Given the description of an element on the screen output the (x, y) to click on. 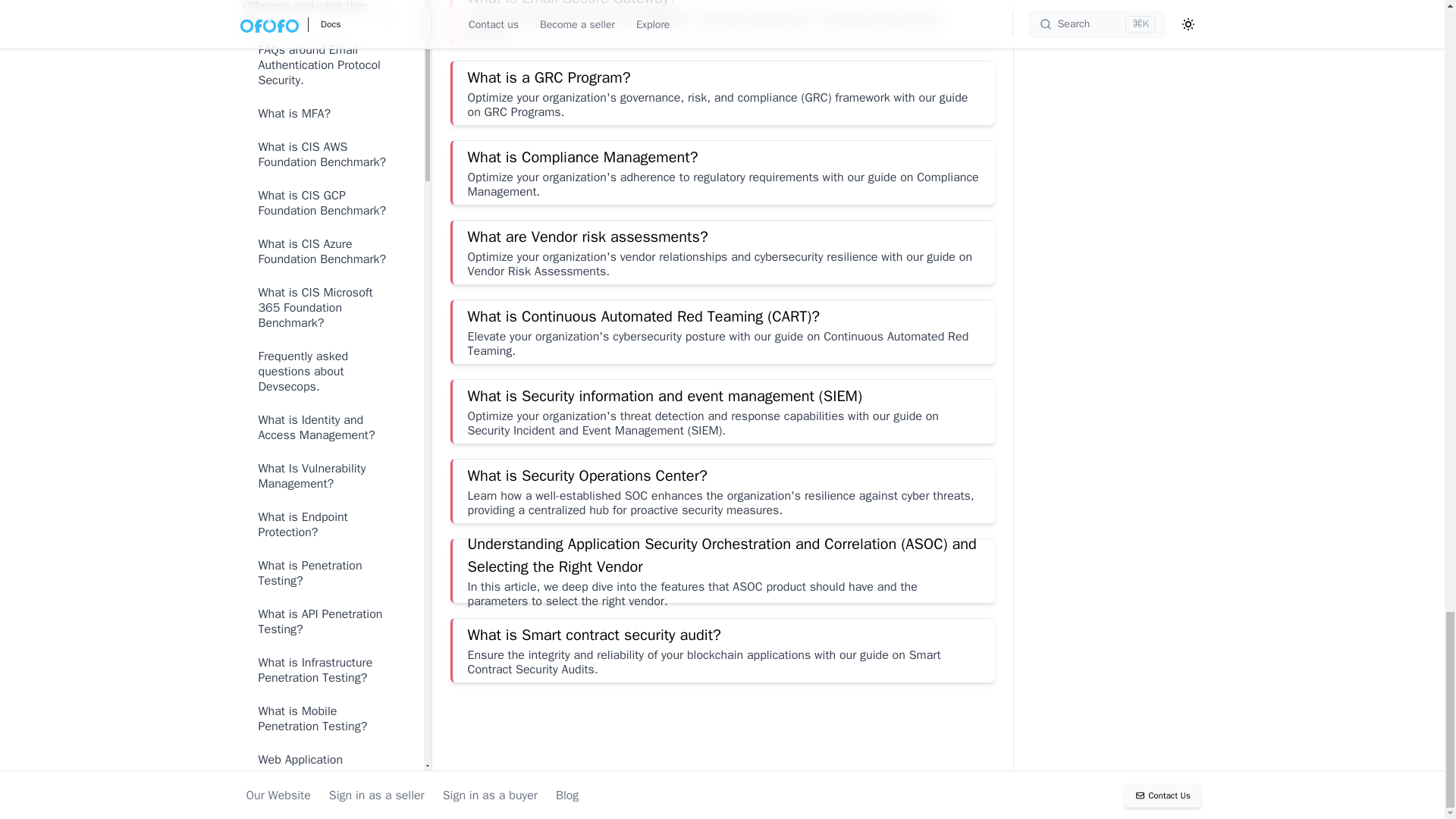
Azure Best practices (316, 355)
Cybersecurity wiki (316, 46)
How to improve CIA for your AWS? (316, 182)
